Given the description of an element on the screen output the (x, y) to click on. 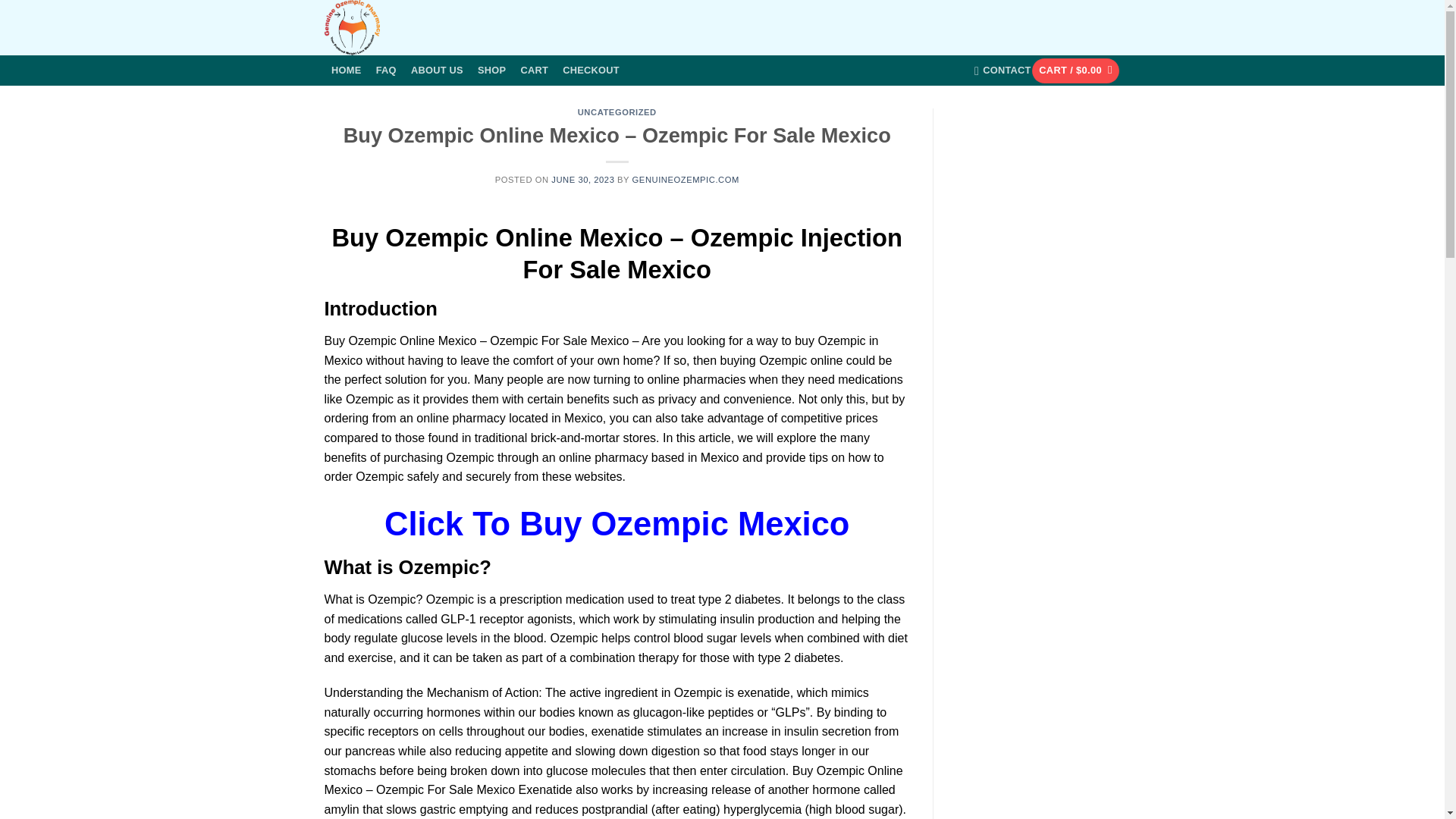
Genuine Ozempic Shop (400, 27)
Cart (1075, 70)
UNCATEGORIZED (617, 112)
CHECKOUT (591, 70)
HOME (346, 70)
JUNE 30, 2023 (582, 179)
CART (534, 70)
GENUINEOZEMPIC.COM (685, 179)
FAQ (385, 70)
CONTACT (1002, 70)
Click To Buy Ozempic Mexico (616, 524)
SHOP (491, 70)
ABOUT US (436, 70)
